Given the description of an element on the screen output the (x, y) to click on. 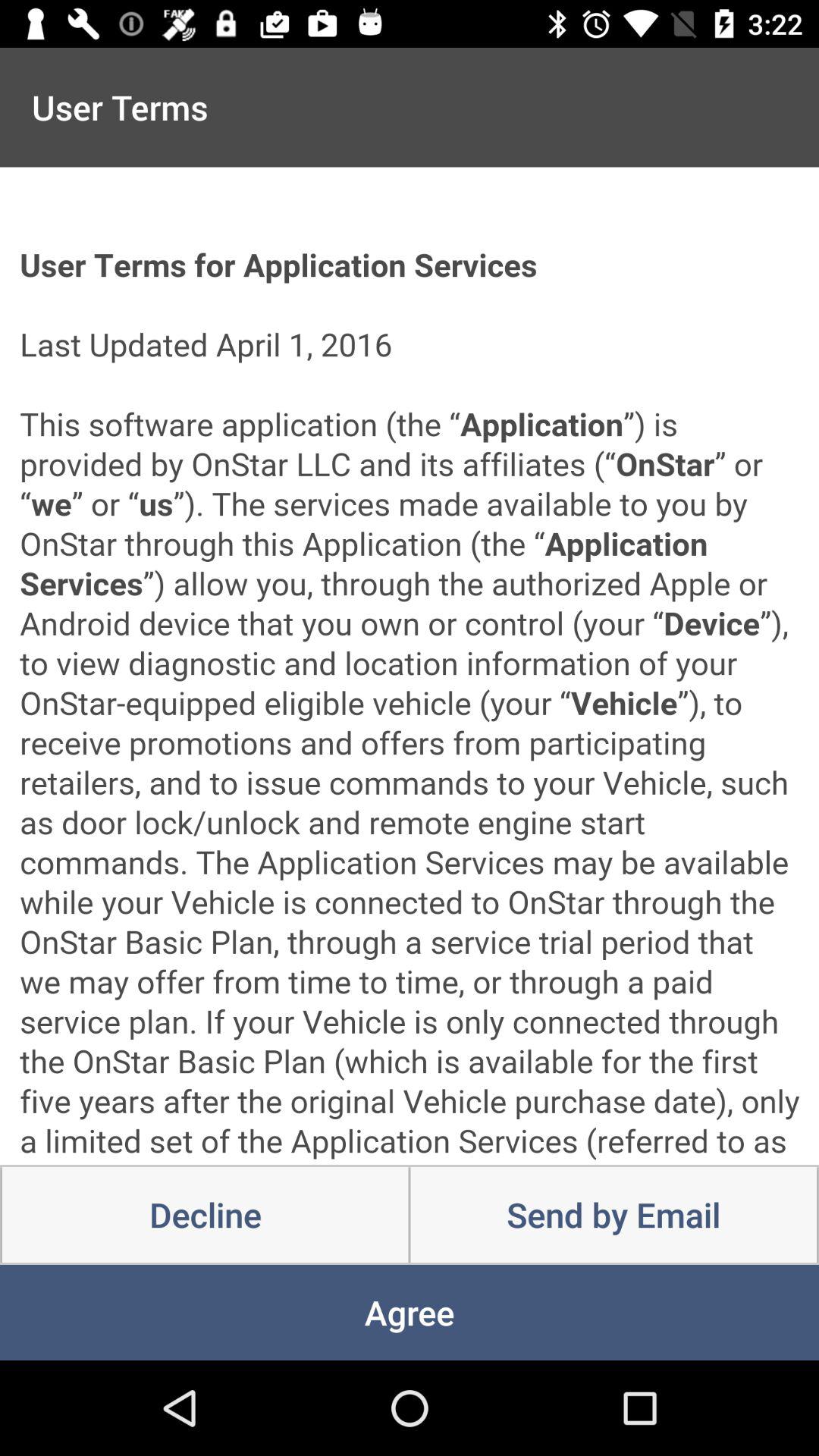
launch item at the bottom left corner (205, 1214)
